Given the description of an element on the screen output the (x, y) to click on. 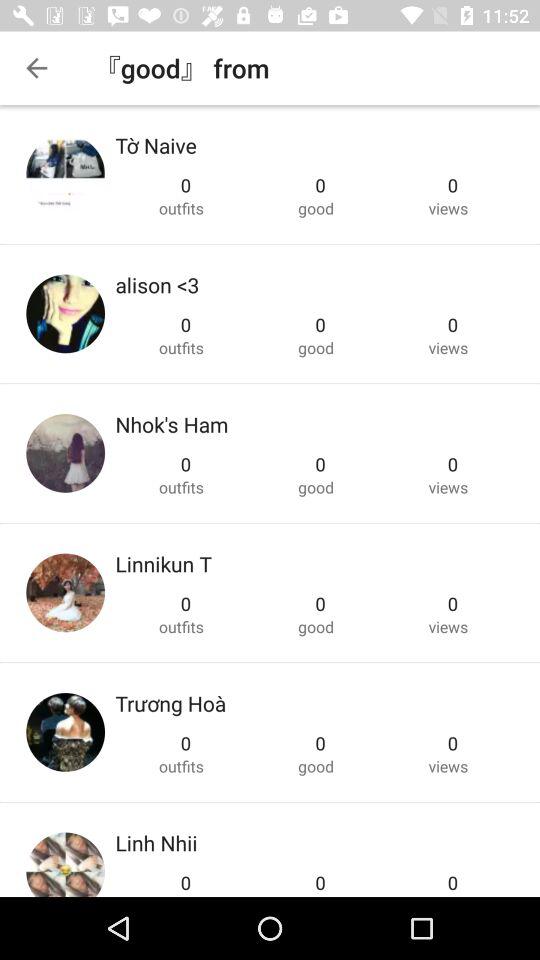
flip until linnikun t item (163, 563)
